Given the description of an element on the screen output the (x, y) to click on. 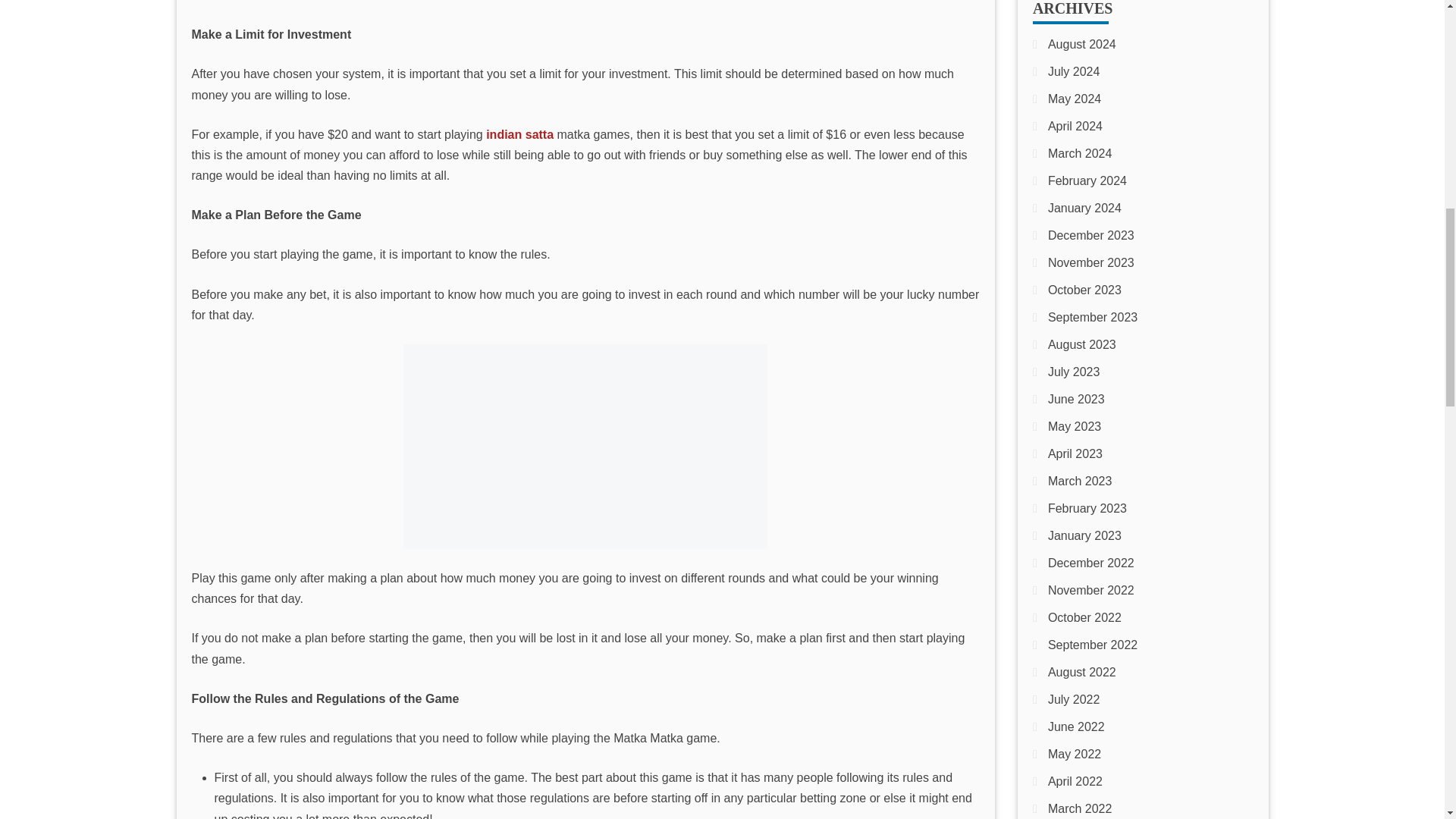
indian satta (519, 133)
indian satta (585, 445)
indian satta (519, 133)
